Given the description of an element on the screen output the (x, y) to click on. 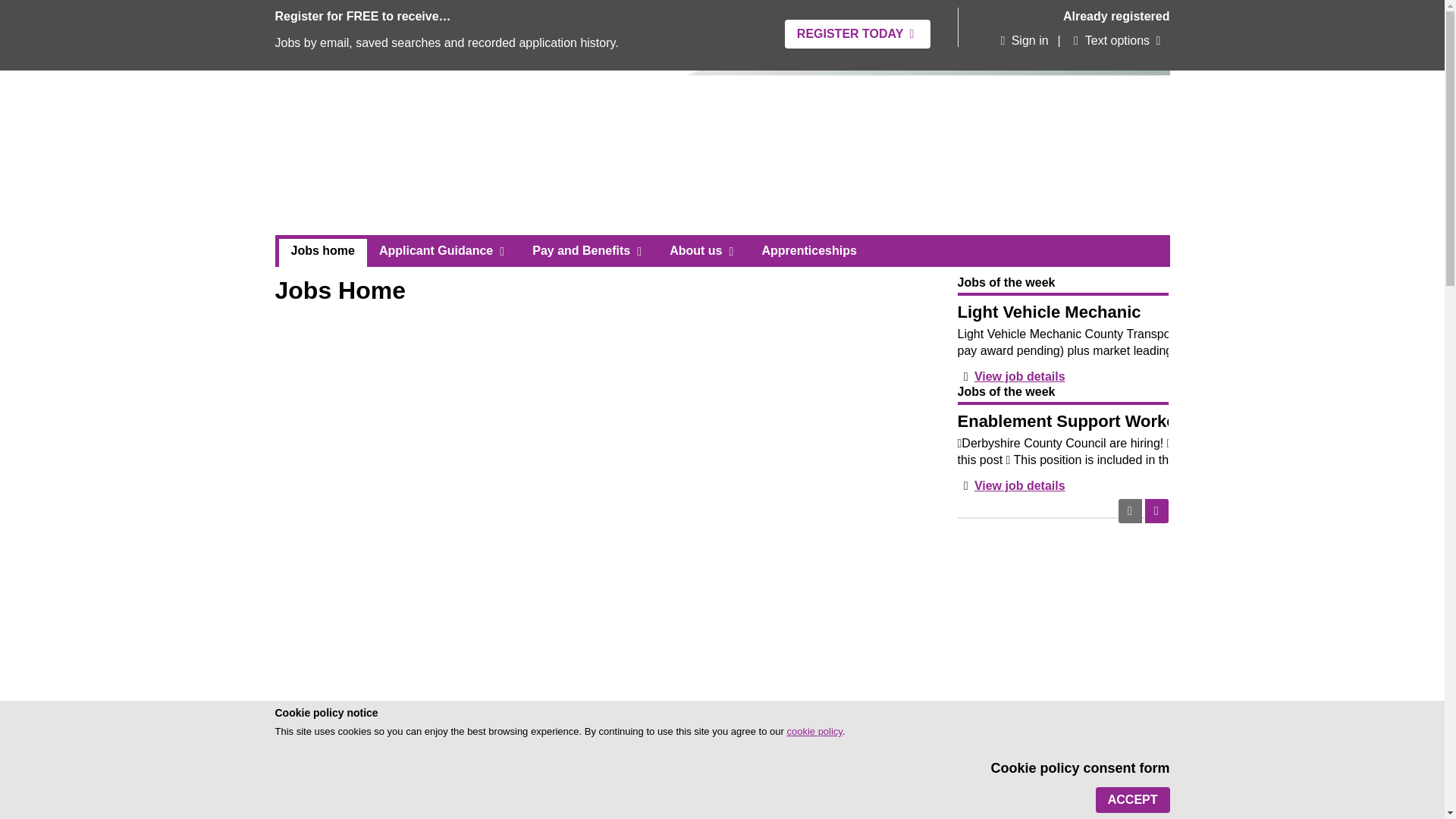
REGISTER TODAY (857, 33)
Sign in (1021, 40)
About us (703, 250)
Applicant Guidance (442, 250)
cookie policy (813, 731)
ACCEPT (1133, 800)
Cookie Policy (813, 731)
Jobs home (322, 252)
Apprenticeships (808, 250)
Text options (1110, 40)
Pay and Benefits (588, 250)
here (608, 812)
